Given the description of an element on the screen output the (x, y) to click on. 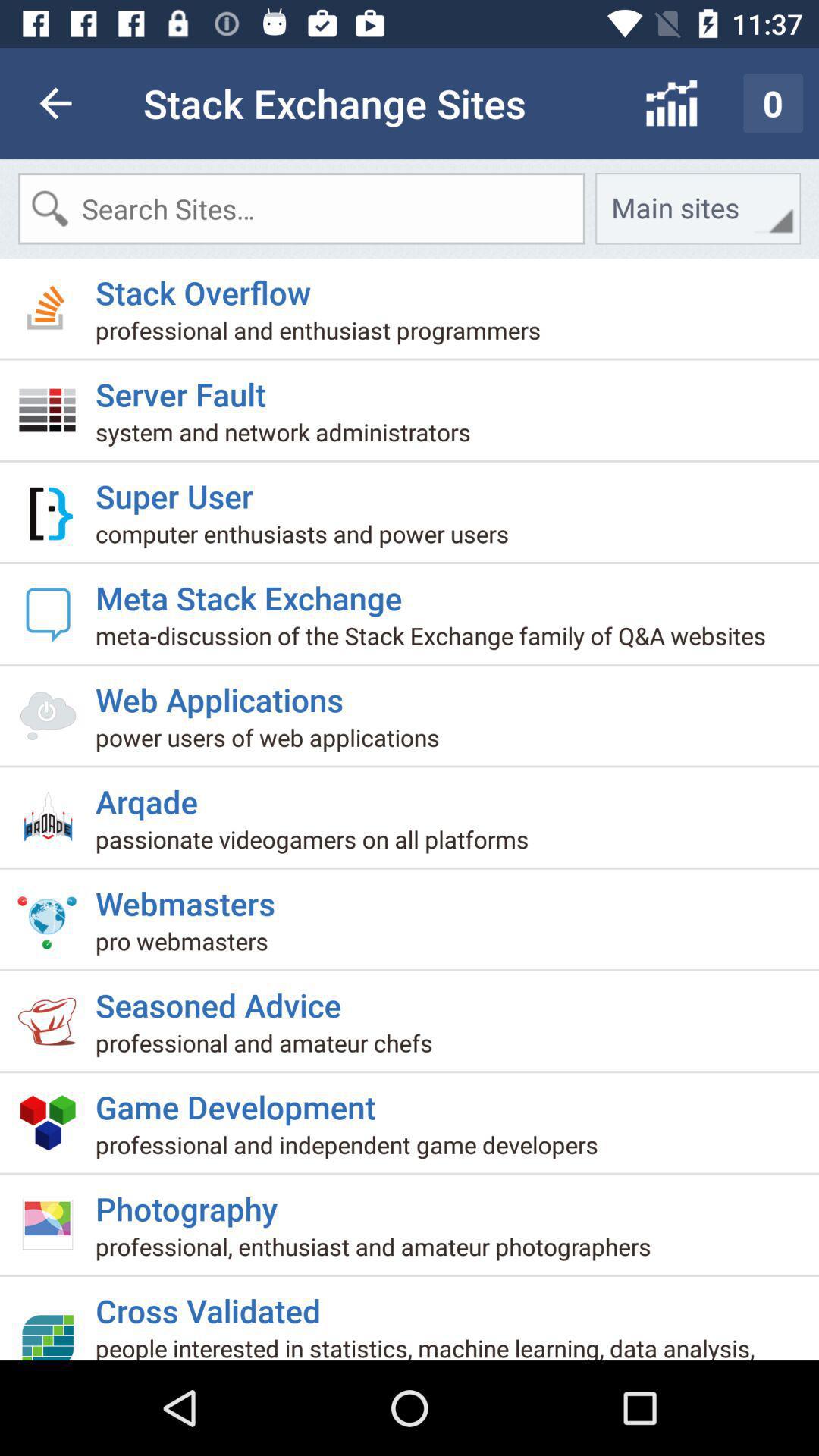
jump until server fault (186, 387)
